Given the description of an element on the screen output the (x, y) to click on. 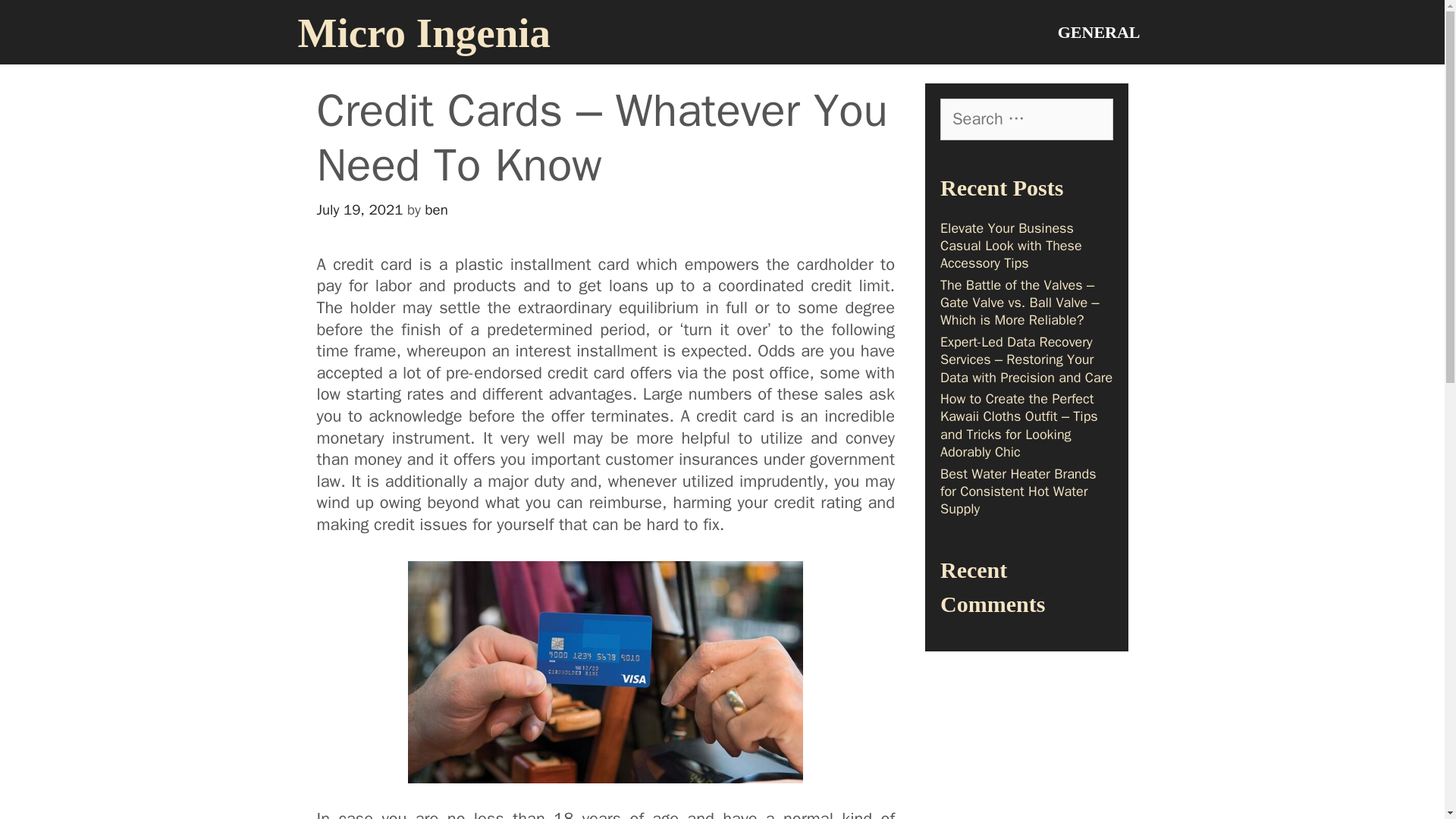
10:38 am (360, 209)
Search for: (1026, 119)
Search (50, 20)
Best Water Heater Brands for Consistent Hot Water Supply (1018, 491)
View all posts by ben (436, 209)
GENERAL (1099, 31)
Micro Ingenia (423, 32)
July 19, 2021 (360, 209)
Elevate Your Business Casual Look with These Accessory Tips (1010, 245)
ben (436, 209)
